Given the description of an element on the screen output the (x, y) to click on. 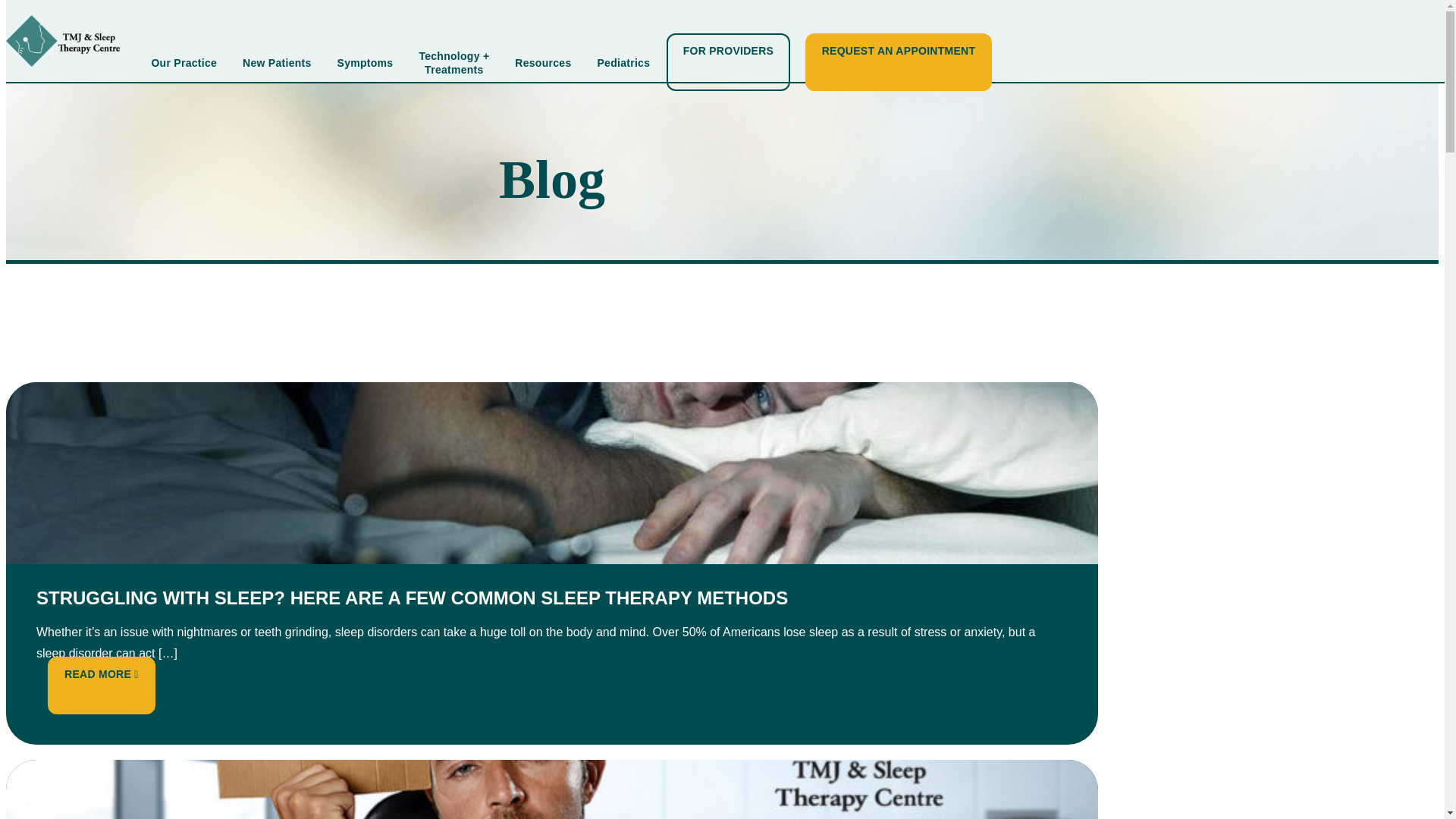
FOR PROVIDERS (728, 61)
Resources (543, 61)
REQUEST AN APPOINTMENT (898, 61)
New Patients (276, 61)
Pediatrics (622, 61)
Our Practice (184, 61)
Symptoms (365, 61)
READ MORE (101, 674)
